Given the description of an element on the screen output the (x, y) to click on. 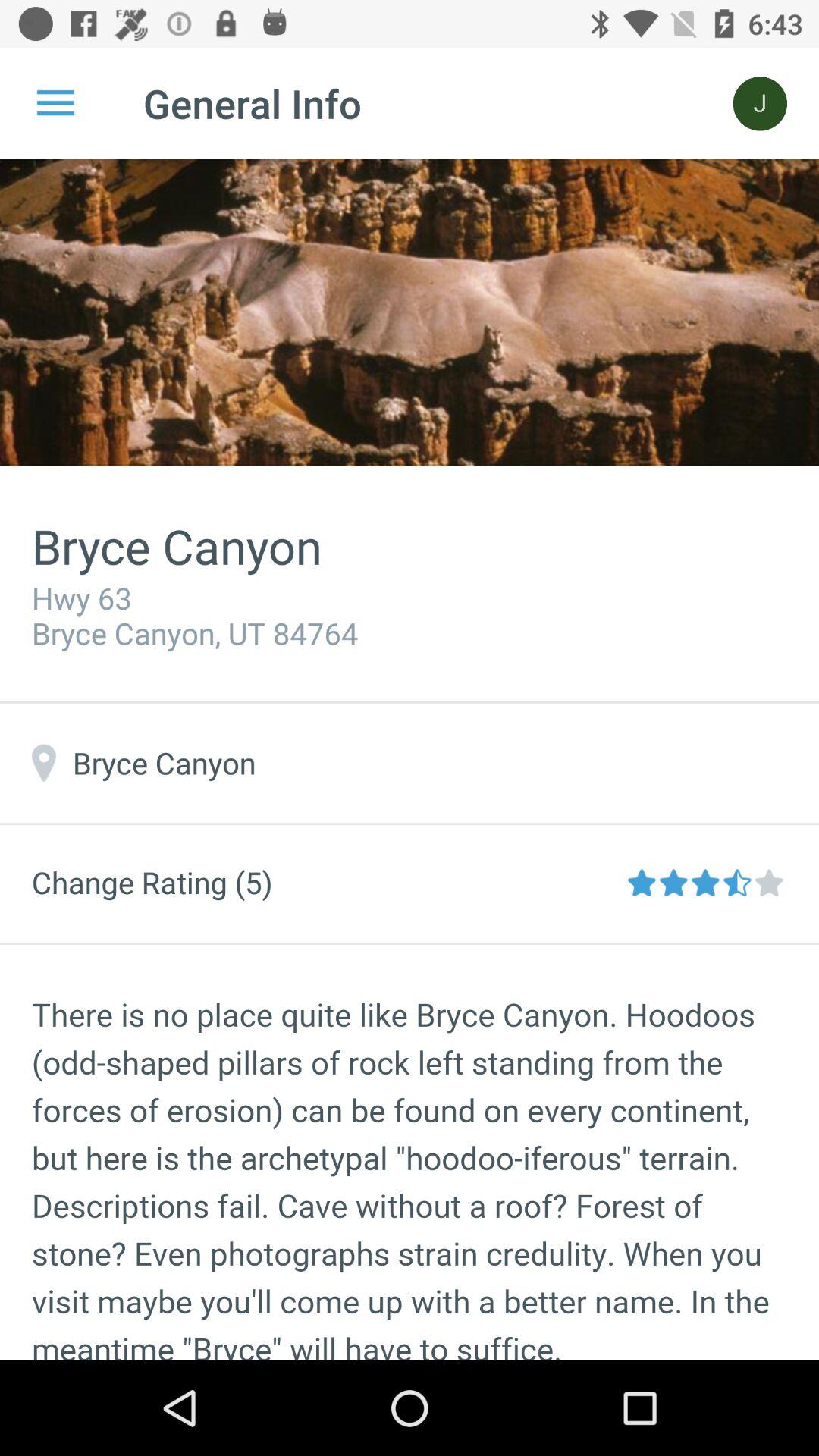
launch the icon next to general info icon (55, 103)
